Given the description of an element on the screen output the (x, y) to click on. 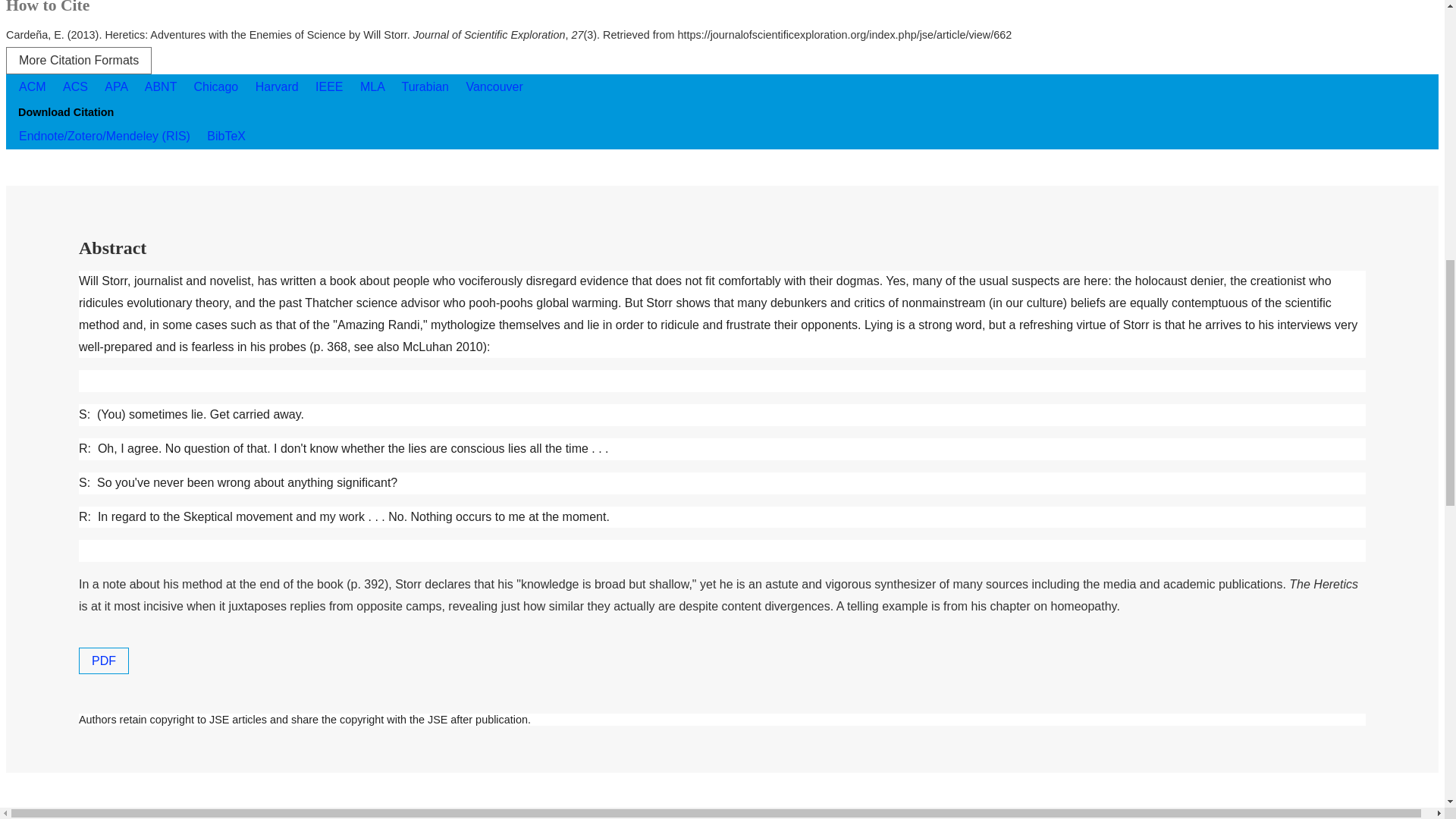
PDF (103, 660)
Vancouver (493, 86)
More Citation Formats (78, 60)
ABNT (162, 86)
IEEE (330, 86)
Harvard (278, 86)
Turabian (426, 86)
MLA (373, 86)
ACS (76, 86)
Chicago (217, 86)
